Given the description of an element on the screen output the (x, y) to click on. 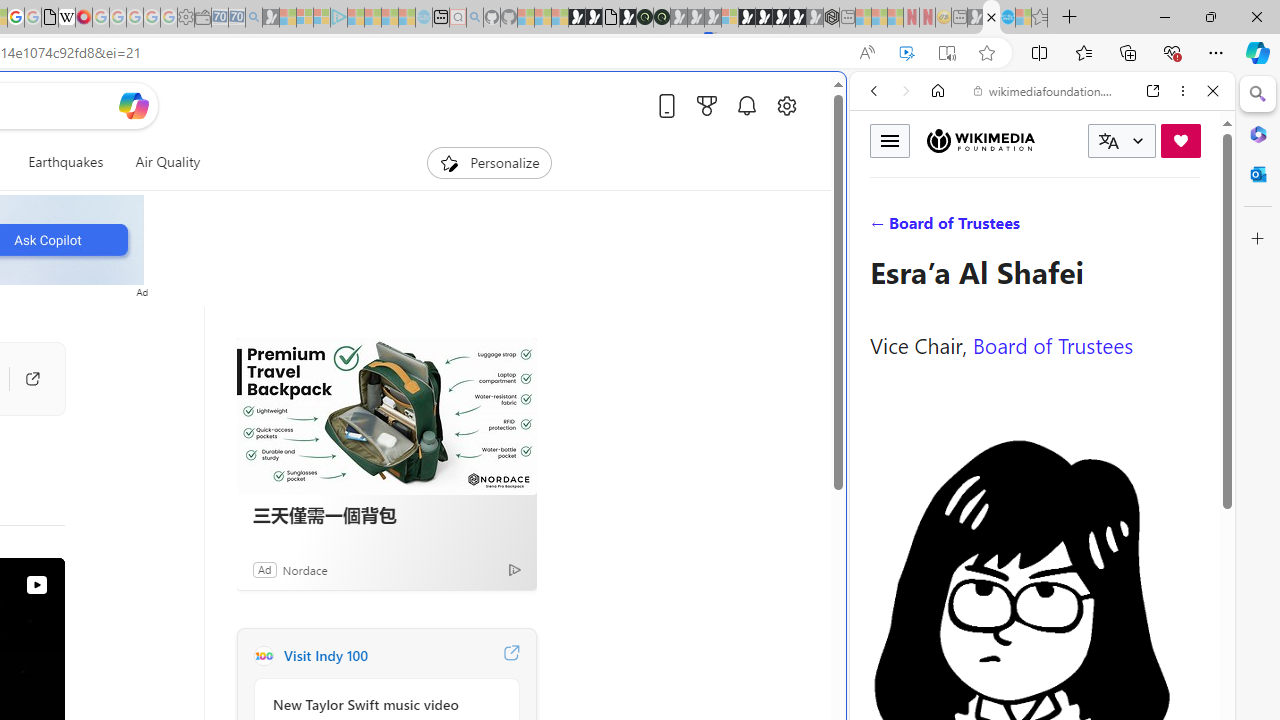
MediaWiki (83, 17)
Play Zoo Boom in your browser | Games from Microsoft Start (593, 17)
Earth has six continents not seven, radical new study claims (991, 17)
Air Quality (167, 162)
Frequently visited (418, 265)
